Given the description of an element on the screen output the (x, y) to click on. 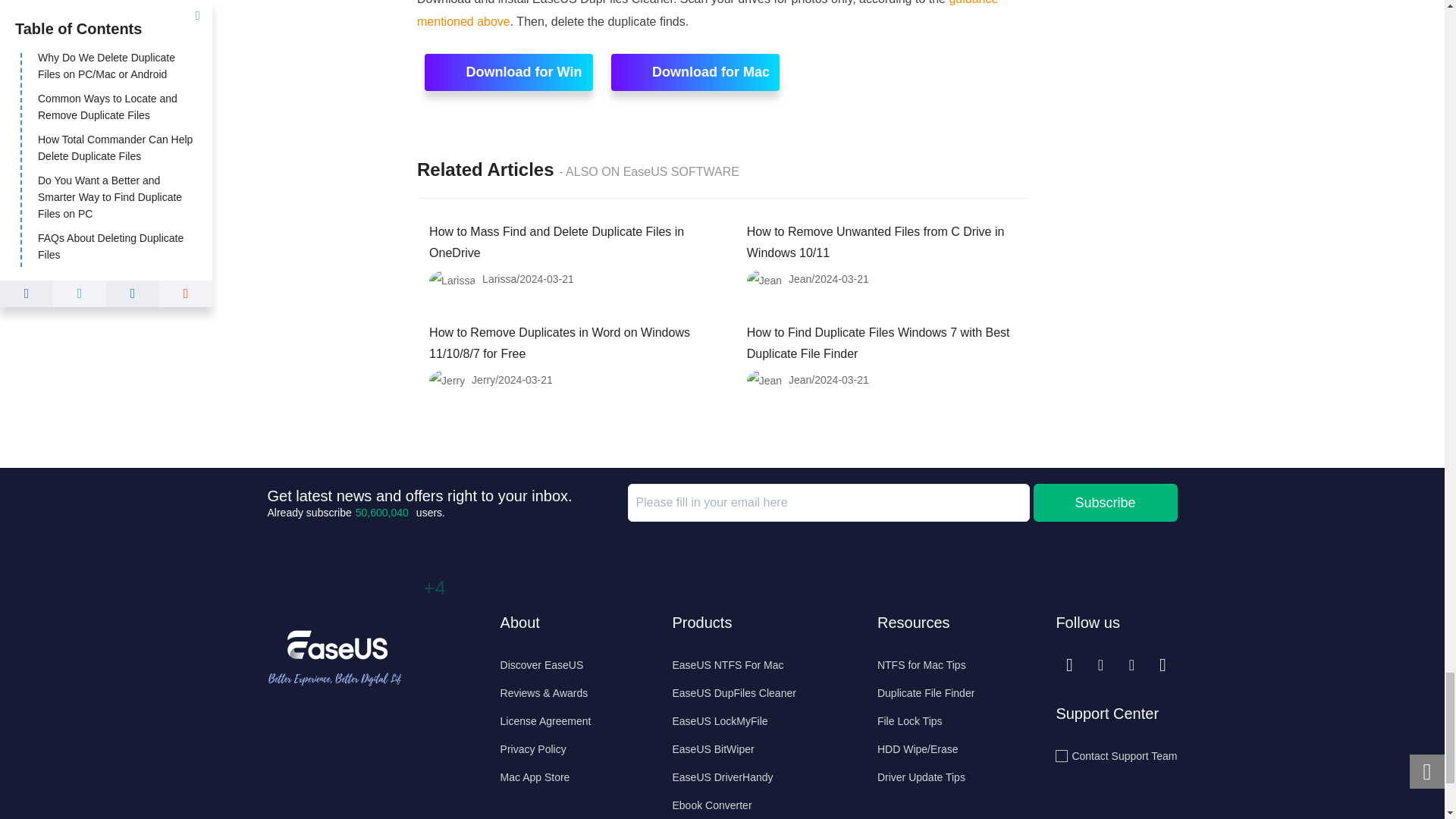
guidance mentioned above (706, 13)
How to Mass Find and Delete Duplicate Files in OneDrive (556, 242)
Discover EaseUS (545, 664)
 Download for Mac (694, 72)
Customer reviews powered by Trustpilot (342, 779)
 Download for Win (508, 72)
